Given the description of an element on the screen output the (x, y) to click on. 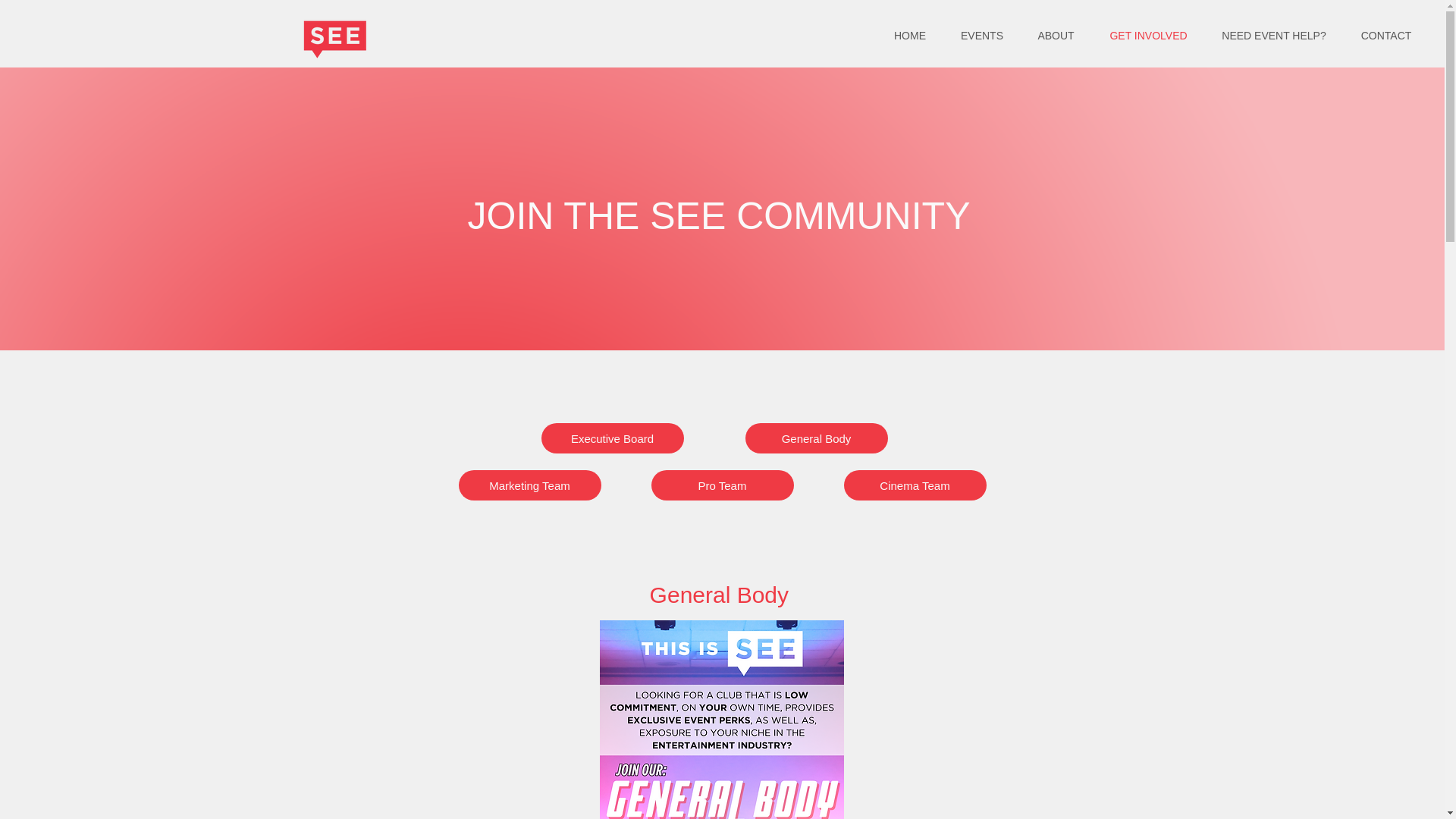
NEED EVENT HELP? (1273, 35)
CONTACT (1385, 35)
Cinema Team (914, 485)
HOME (909, 35)
EVENTS (981, 35)
GET INVOLVED (1148, 35)
Marketing Team (528, 485)
ABOUT (1056, 35)
General Body (815, 438)
Executive Board (612, 438)
